Given the description of an element on the screen output the (x, y) to click on. 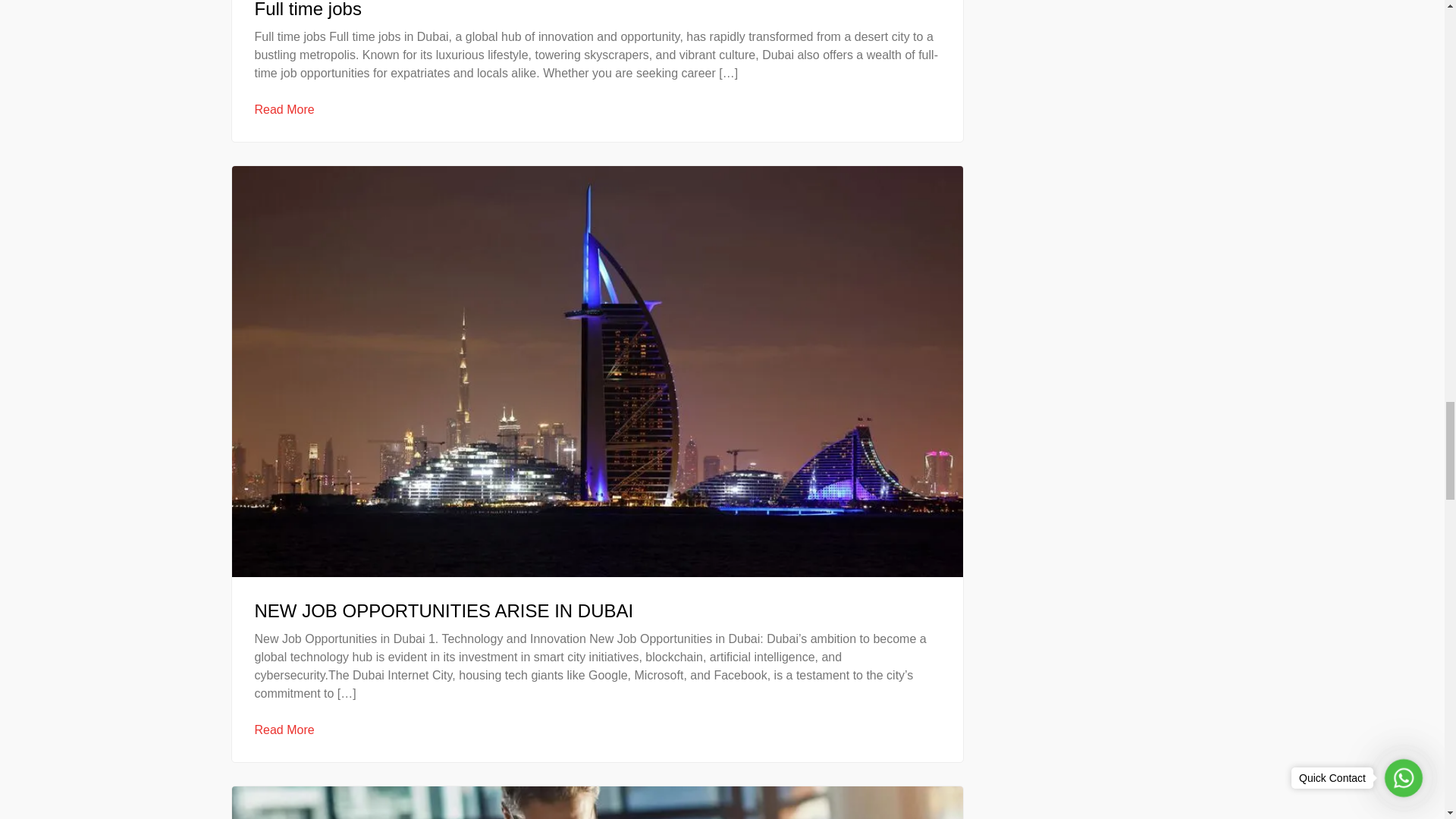
Read More (284, 109)
Read More (284, 730)
Full time jobs (307, 10)
NEW JOB OPPORTUNITIES ARISE IN DUBAI (443, 610)
